Given the description of an element on the screen output the (x, y) to click on. 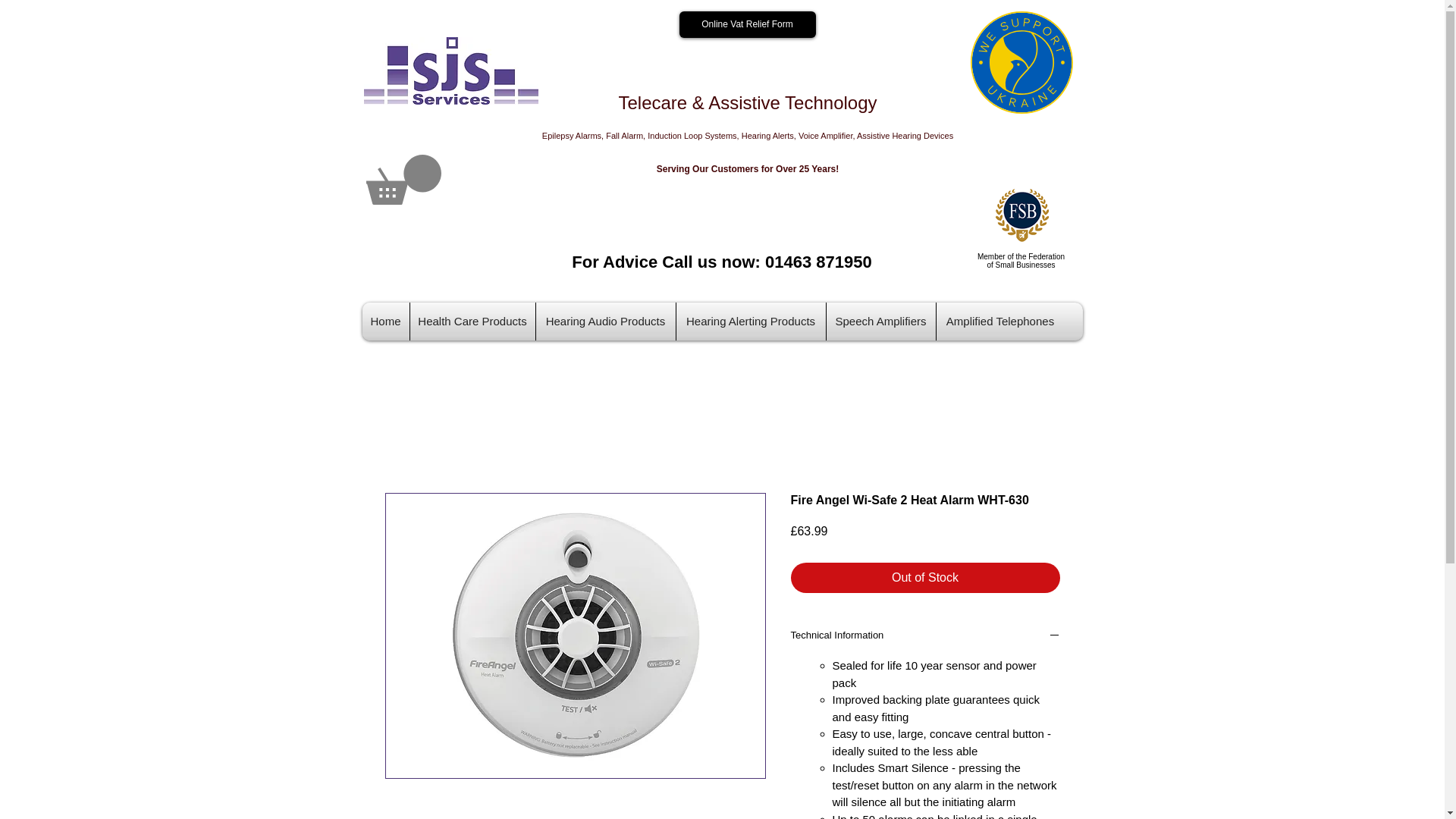
Home (385, 321)
Hearing Alerting Products (751, 321)
Amplified Telephones (1000, 321)
sjs logo.jpg (451, 70)
Online Vat Relief Form (747, 24)
Health Care Products (471, 321)
Hearing Audio Products (605, 321)
Out of Stock (924, 577)
Technical Information (924, 636)
Speech Amplifiers (881, 321)
